Given the description of an element on the screen output the (x, y) to click on. 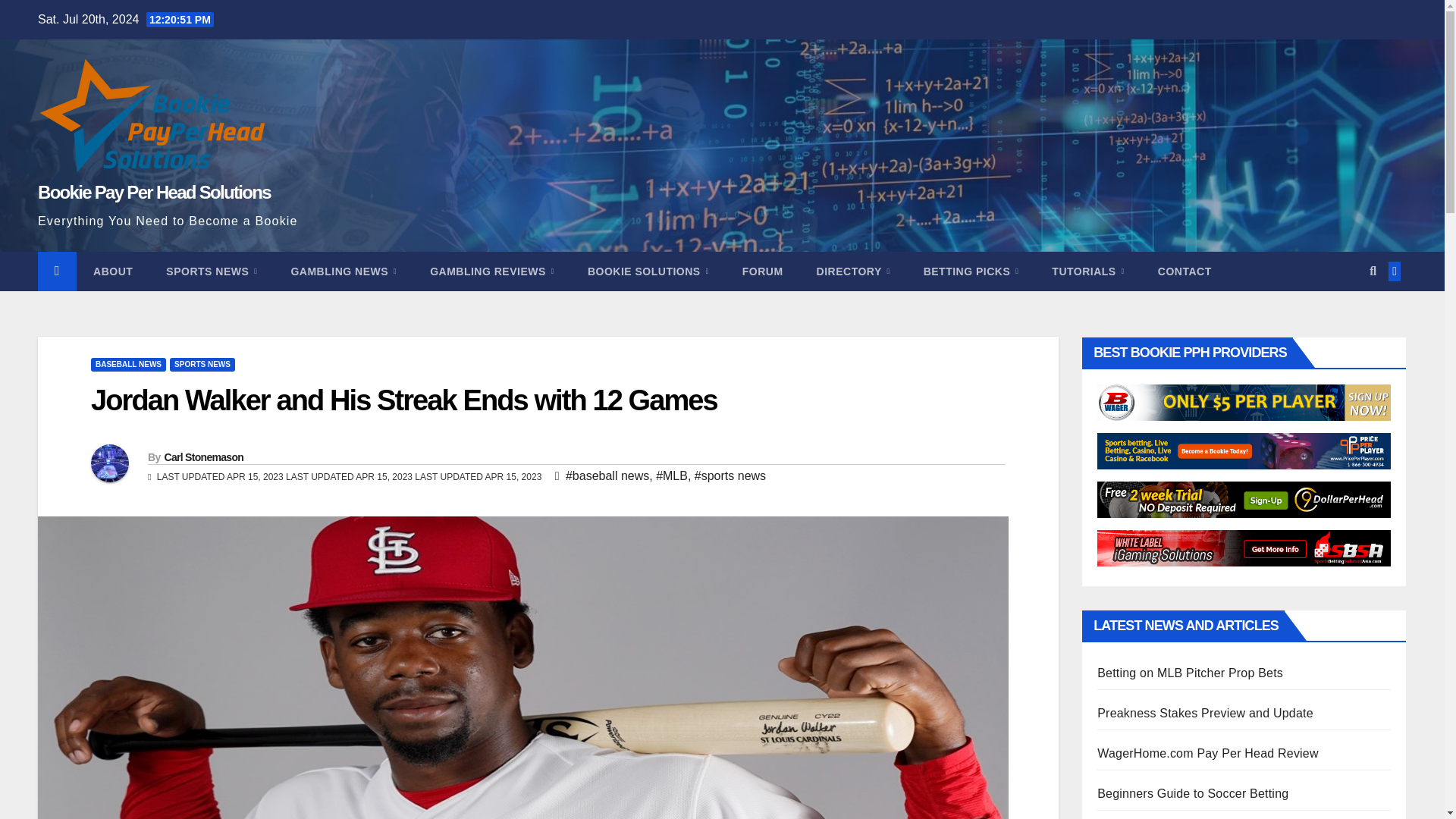
ABOUT (113, 271)
Bookie Pay Per Head Solutions (153, 191)
Sports News (211, 271)
SPORTS NEWS (211, 271)
About (113, 271)
GAMBLING NEWS (343, 271)
GAMBLING REVIEWS (491, 271)
